Given the description of an element on the screen output the (x, y) to click on. 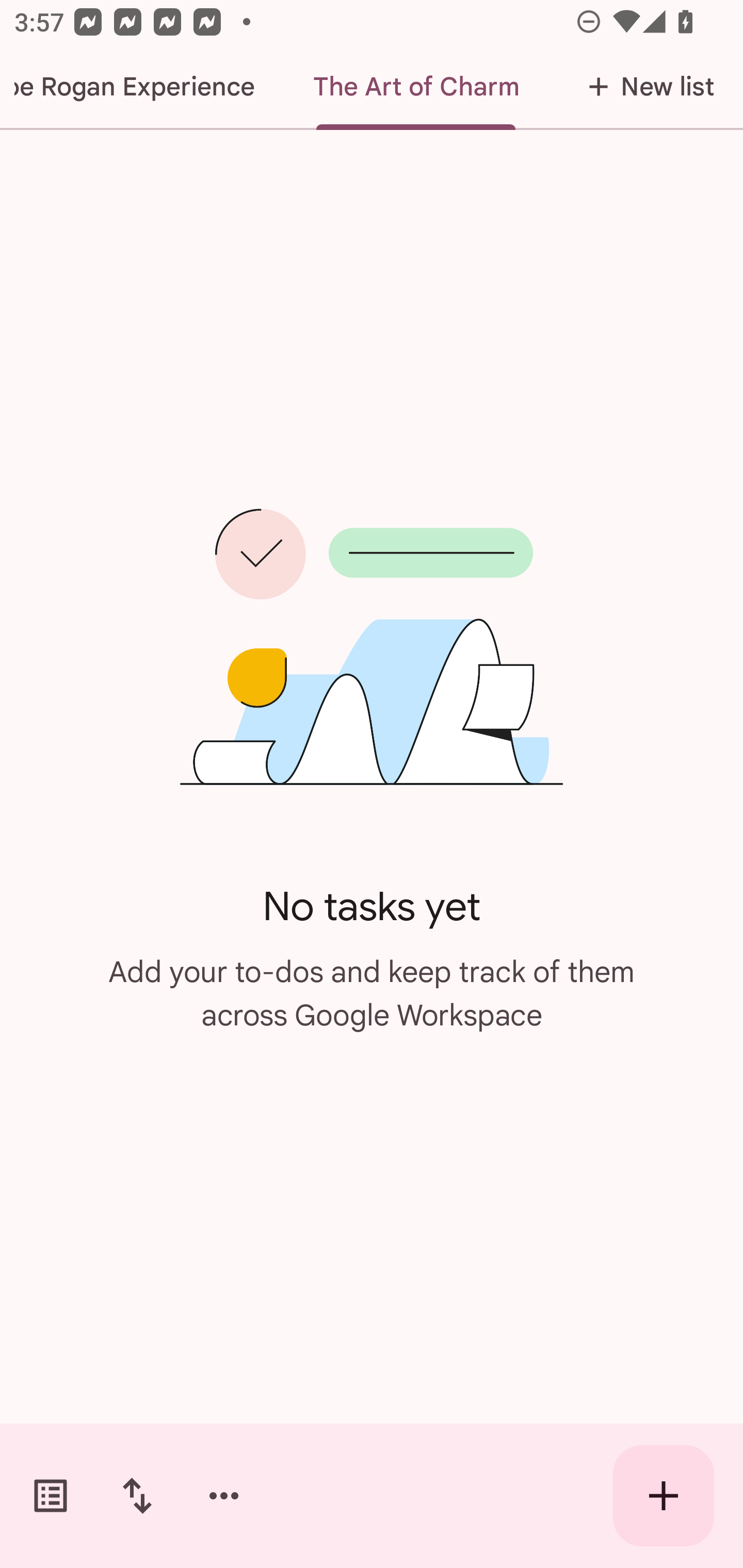
The Joe Rogan Experience (141, 86)
New list (645, 86)
Switch task lists (50, 1495)
Create new task (663, 1495)
Change sort order (136, 1495)
More options (223, 1495)
